Given the description of an element on the screen output the (x, y) to click on. 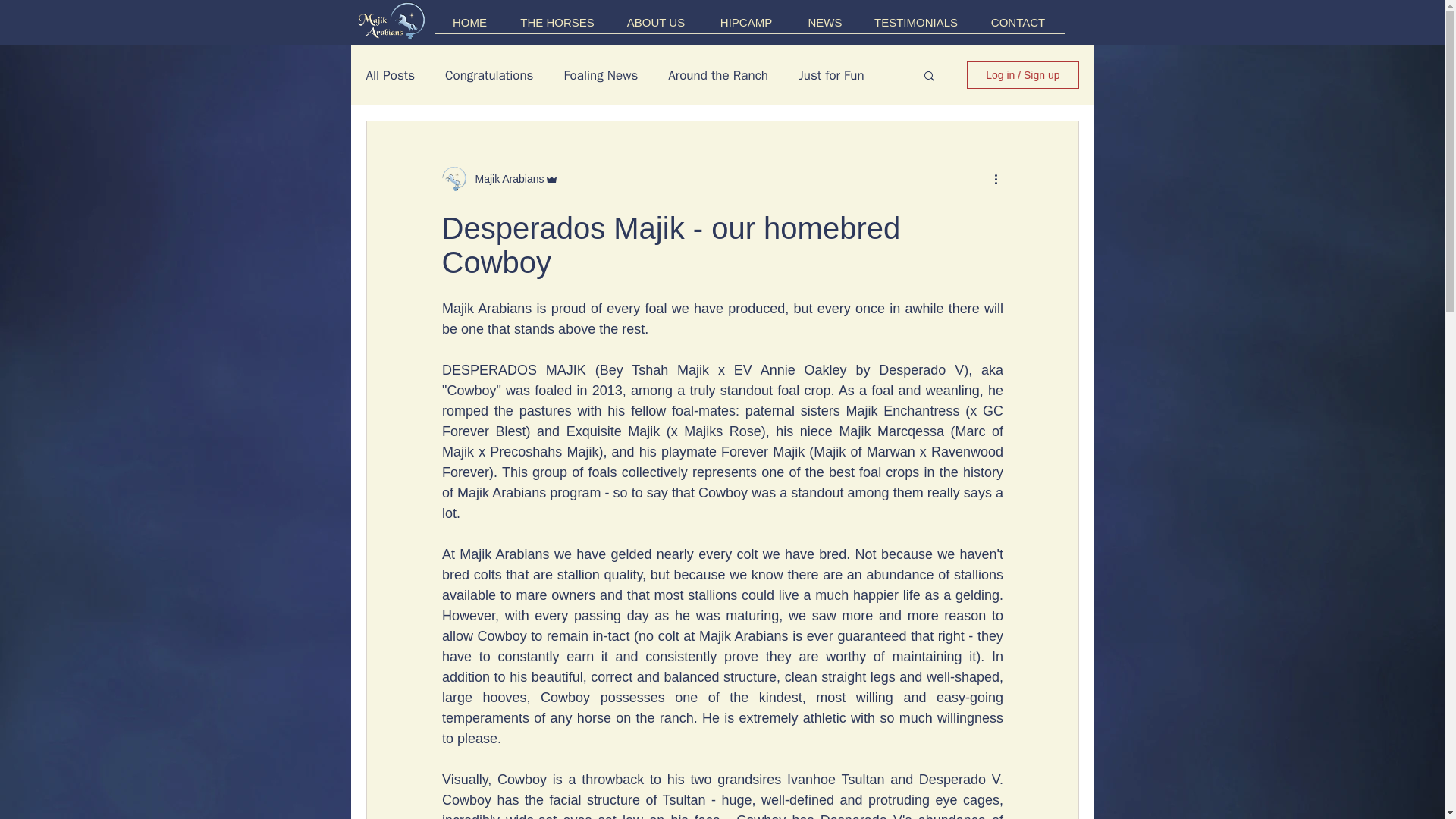
Just for Fun (830, 75)
Around the Ranch (718, 75)
Congratulations (488, 75)
NEWS (825, 22)
HOME (469, 22)
THE HORSES (556, 22)
TESTIMONIALS (915, 22)
CONTACT (1018, 22)
All Posts (389, 75)
HIPCAMP (745, 22)
ABOUT US (656, 22)
Majik Arabians (504, 179)
Foaling News (600, 75)
